Given the description of an element on the screen output the (x, y) to click on. 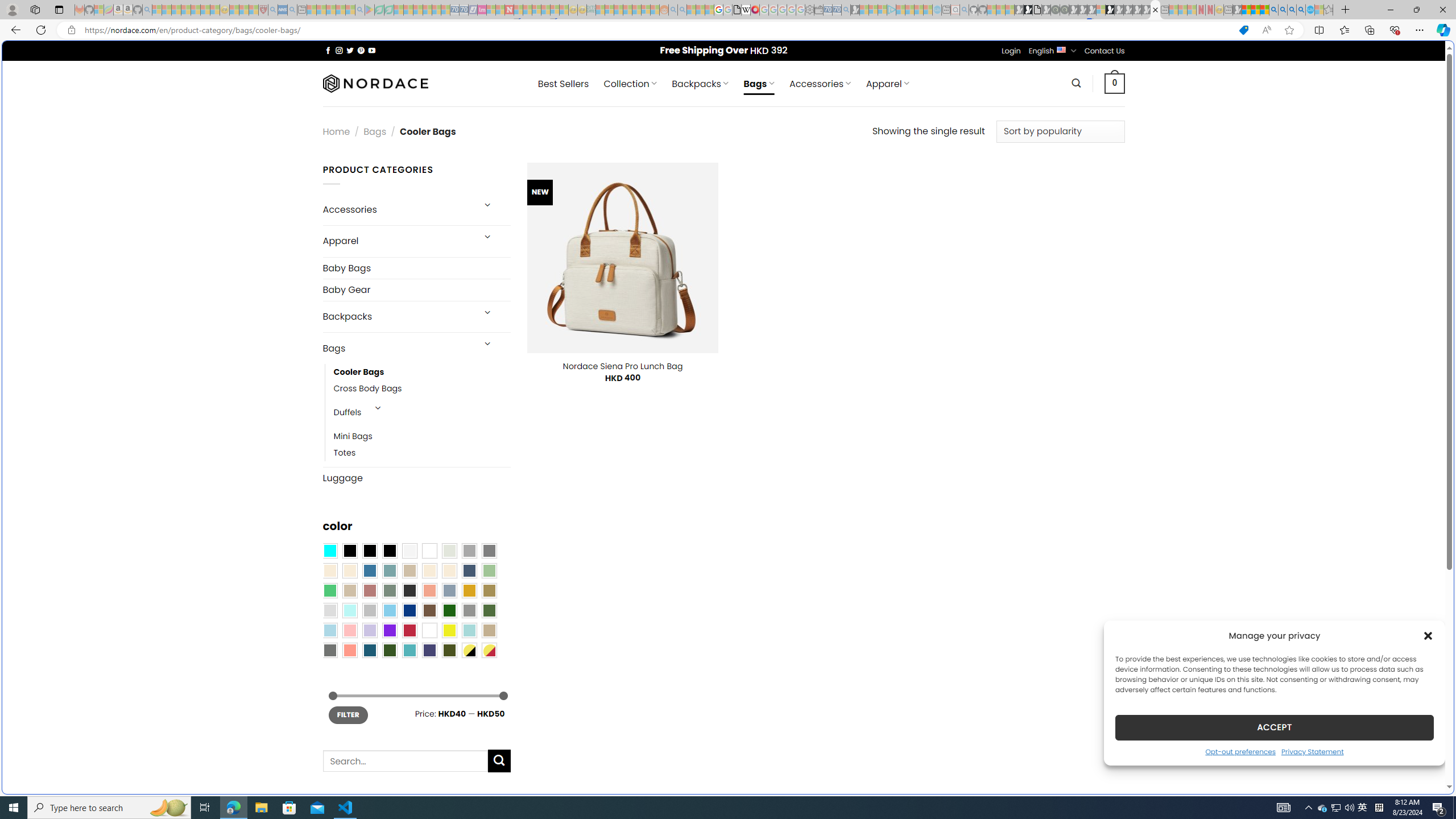
Yellow-Black (468, 649)
Yellow-Red (488, 649)
Purple Navy (429, 649)
Backpacks (397, 316)
Sage (389, 590)
Light Blue (329, 630)
Beige (329, 570)
